Given the description of an element on the screen output the (x, y) to click on. 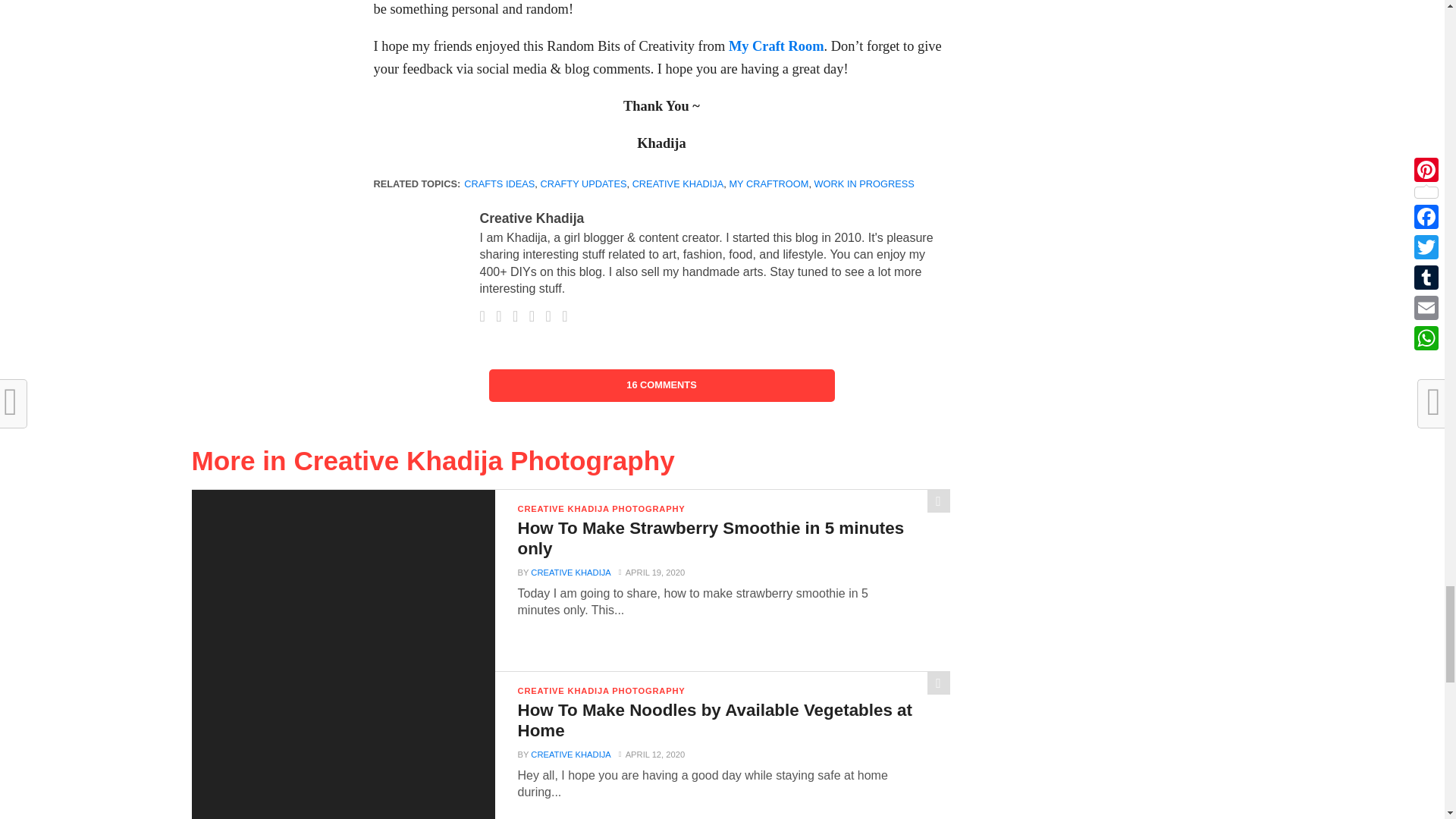
Posts by Creative Khadija (570, 754)
Posts by Creative Khadija (570, 572)
Posts by Creative Khadija (531, 218)
